Given the description of an element on the screen output the (x, y) to click on. 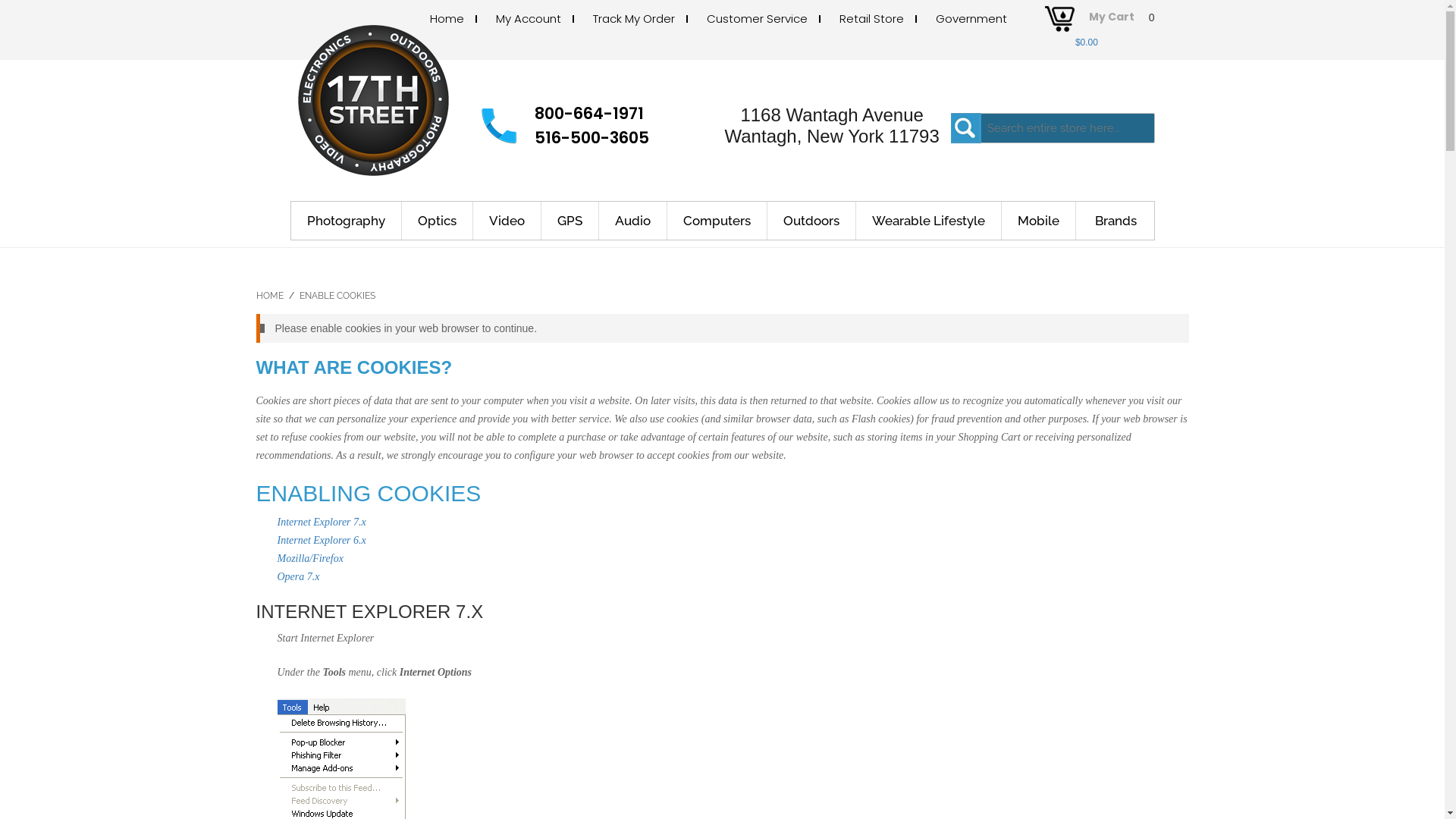
My Account Element type: text (528, 18)
Track My Order Element type: text (633, 18)
Customer Service Element type: text (756, 18)
Internet Explorer 6.x Element type: text (321, 540)
Mobile Element type: text (1038, 220)
Outdoors Element type: text (811, 220)
Audio Element type: text (633, 220)
Wearable Lifestyle Element type: text (928, 220)
Opera 7.x Element type: text (298, 576)
Retail Store Element type: text (871, 18)
$0.00 Element type: text (1086, 42)
Photography Element type: text (346, 220)
Brands Element type: text (1114, 220)
Government Element type: text (971, 18)
HOME Element type: text (269, 295)
Home Element type: text (446, 18)
Video Element type: text (507, 220)
GPS Element type: text (570, 220)
My Cart Element type: text (1111, 20)
Optics Element type: text (437, 220)
Mozilla/Firefox Element type: text (310, 558)
Search Element type: hover (965, 127)
Internet Explorer 7.x Element type: text (321, 521)
Computers Element type: text (717, 220)
